Given the description of an element on the screen output the (x, y) to click on. 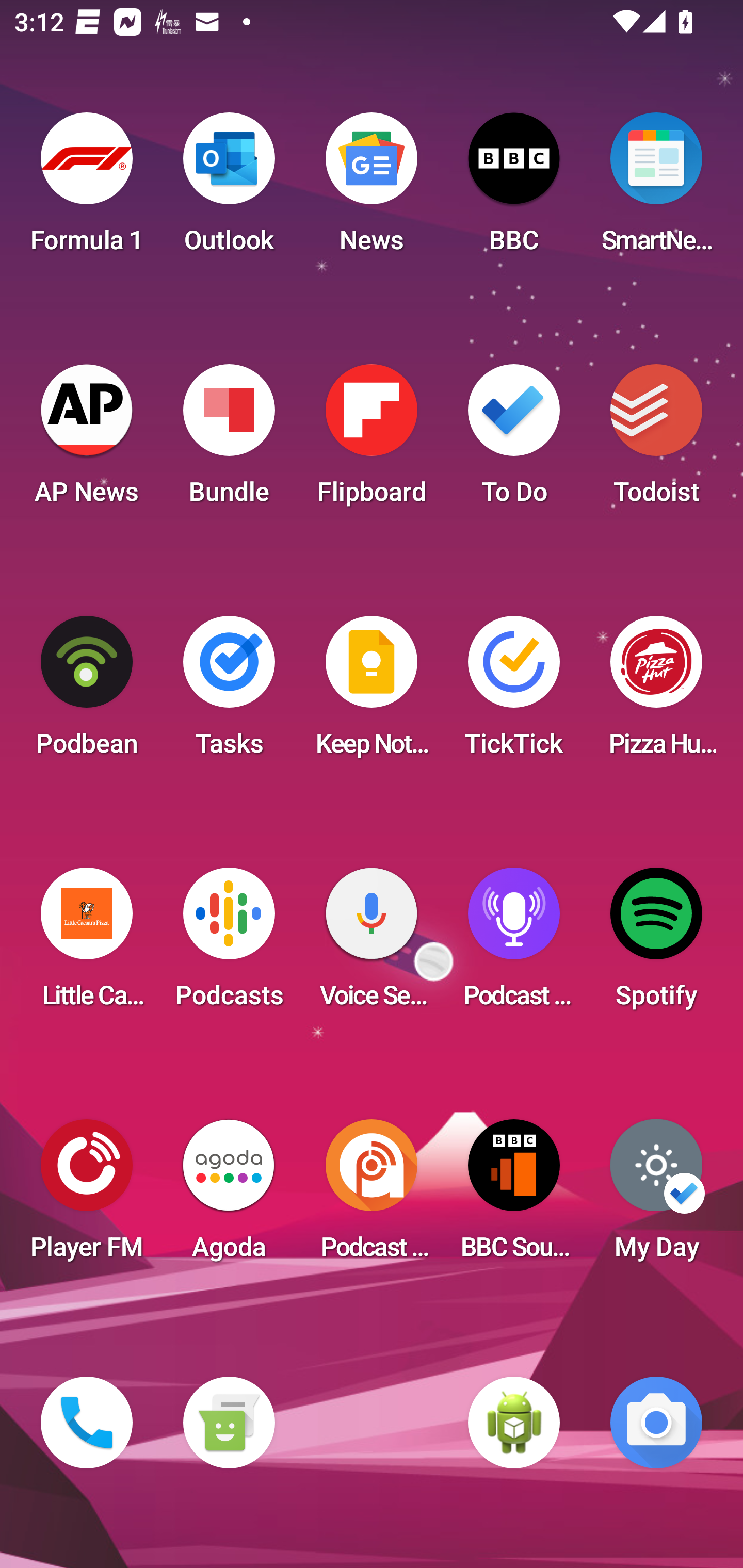
Formula 1 (86, 188)
Outlook (228, 188)
News (371, 188)
BBC (513, 188)
SmartNews (656, 188)
AP News (86, 440)
Bundle (228, 440)
Flipboard (371, 440)
To Do (513, 440)
Todoist (656, 440)
Podbean (86, 692)
Tasks (228, 692)
Keep Notes (371, 692)
TickTick (513, 692)
Pizza Hut HK & Macau (656, 692)
Little Caesars Pizza (86, 943)
Podcasts (228, 943)
Voice Search (371, 943)
Podcast Player (513, 943)
Spotify (656, 943)
Player FM (86, 1195)
Agoda (228, 1195)
Podcast Addict (371, 1195)
BBC Sounds (513, 1195)
My Day (656, 1195)
Phone (86, 1422)
Messaging (228, 1422)
WebView Browser Tester (513, 1422)
Camera (656, 1422)
